Given the description of an element on the screen output the (x, y) to click on. 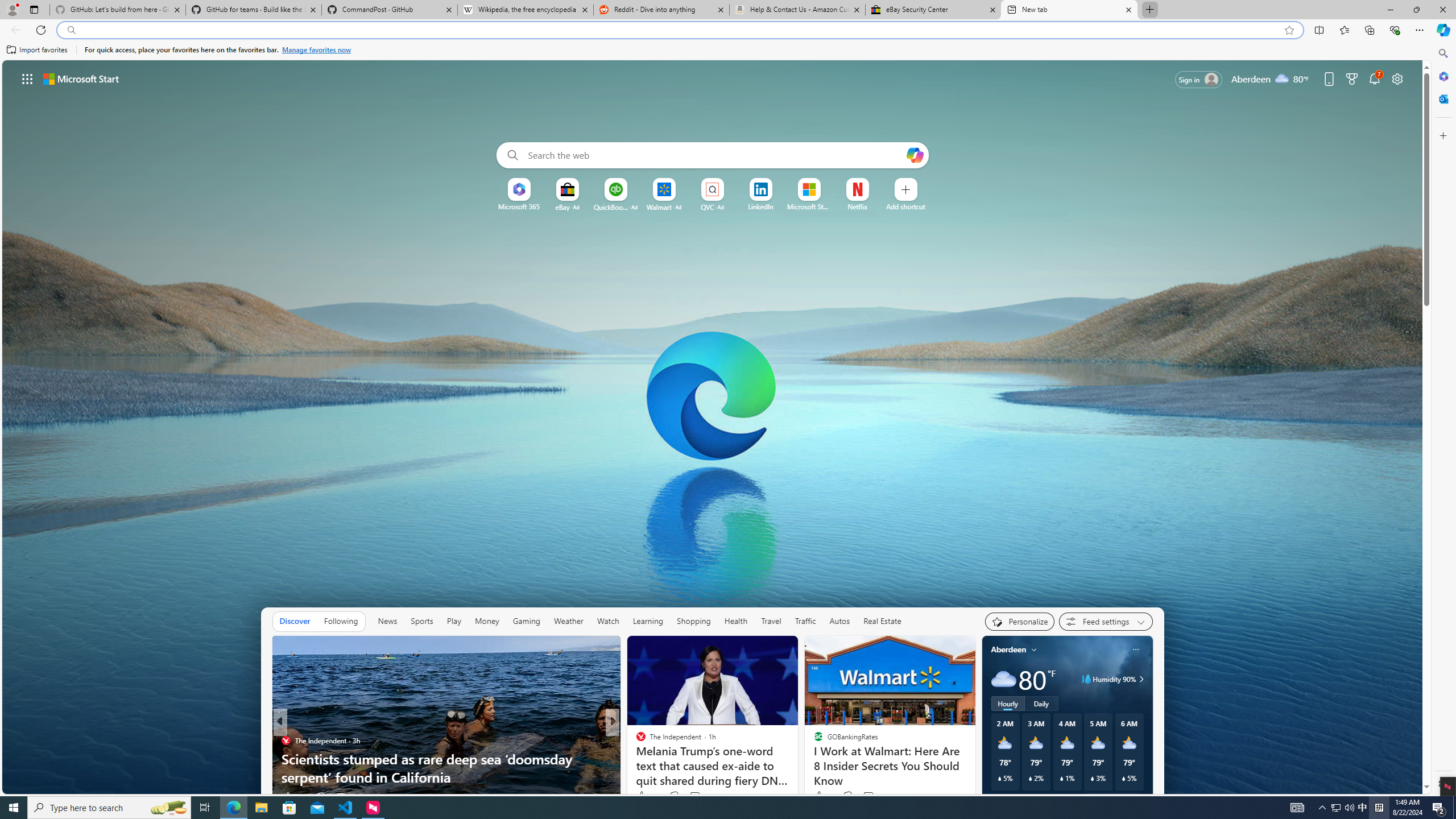
Stacker (635, 740)
Favorites bar (715, 49)
View comments 133 Comment (694, 795)
View comments 11 Comment (696, 796)
View comments 133 Comment (701, 795)
175 Like (643, 796)
AutomationID: backgroundImagePicture (712, 426)
